Given the description of an element on the screen output the (x, y) to click on. 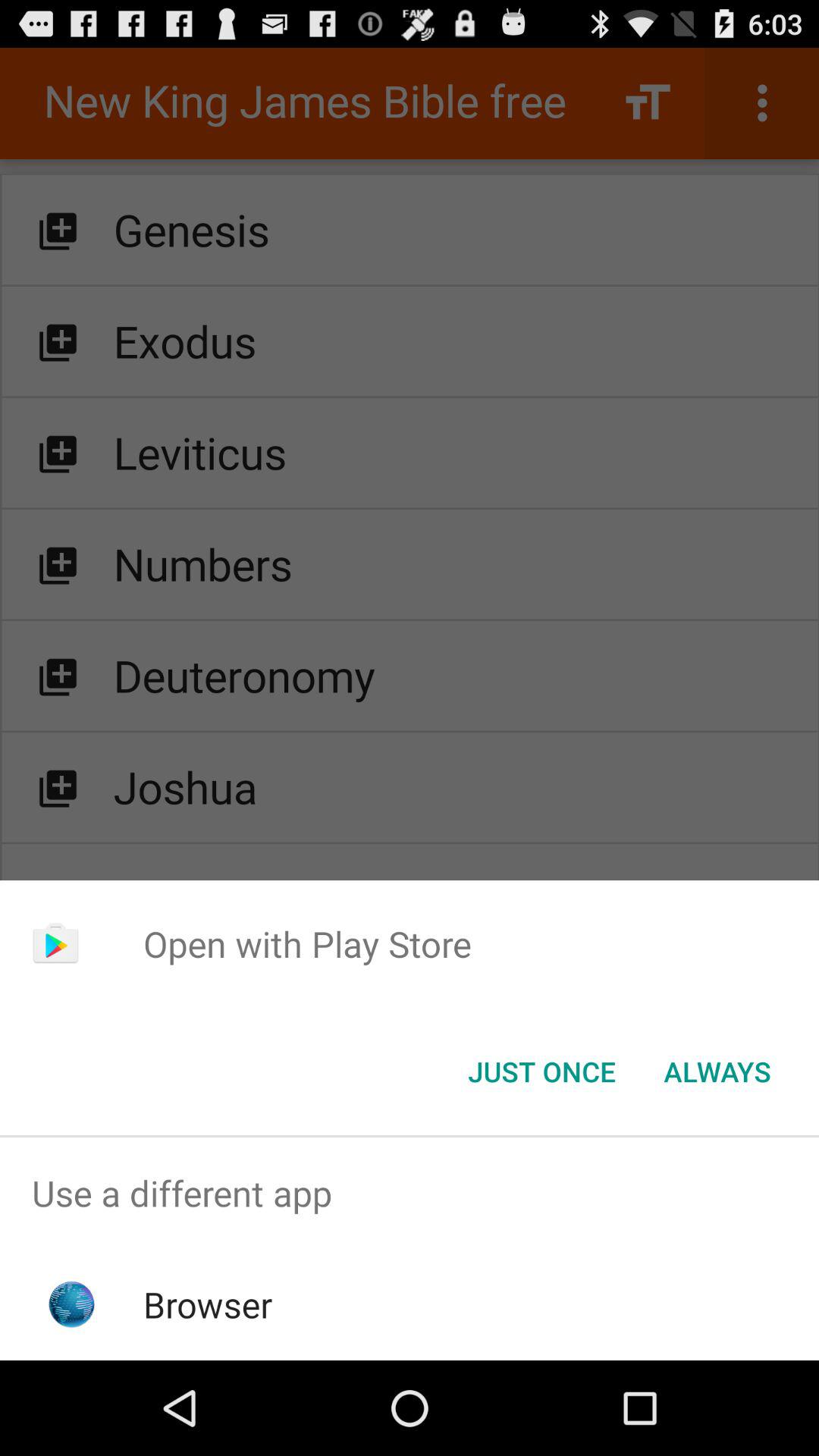
flip to the use a different icon (409, 1192)
